Given the description of an element on the screen output the (x, y) to click on. 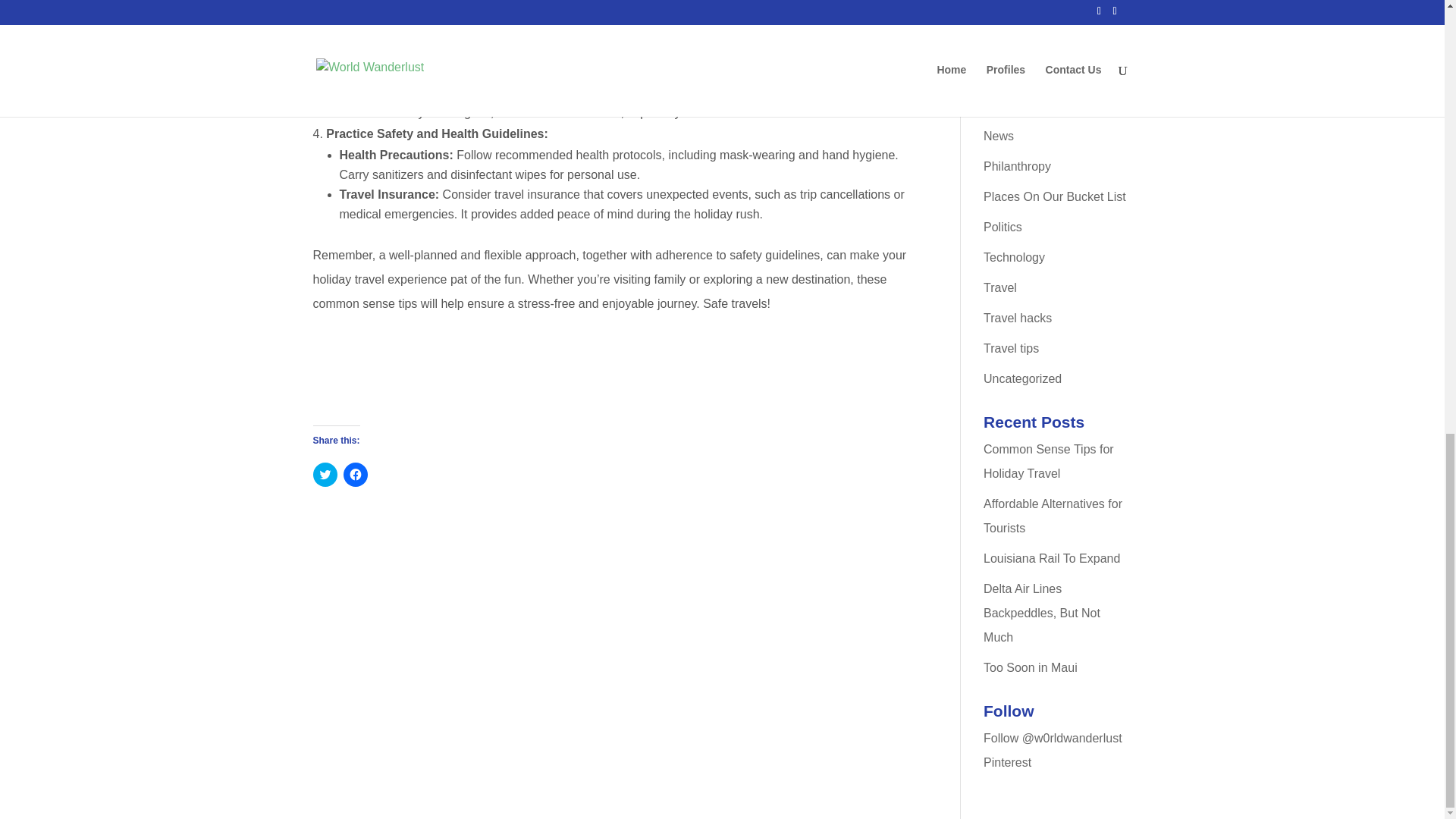
Media (1000, 105)
Philanthropy (1017, 165)
Travel tips (1011, 348)
Affordable Alternatives for Tourists (1053, 515)
Technology (1014, 256)
Click to share on Facebook (354, 474)
Delta Air Lines Backpeddles, But Not Much (1042, 612)
Travel hacks (1017, 318)
Politics (1003, 226)
Uncategorized (1022, 378)
